Given the description of an element on the screen output the (x, y) to click on. 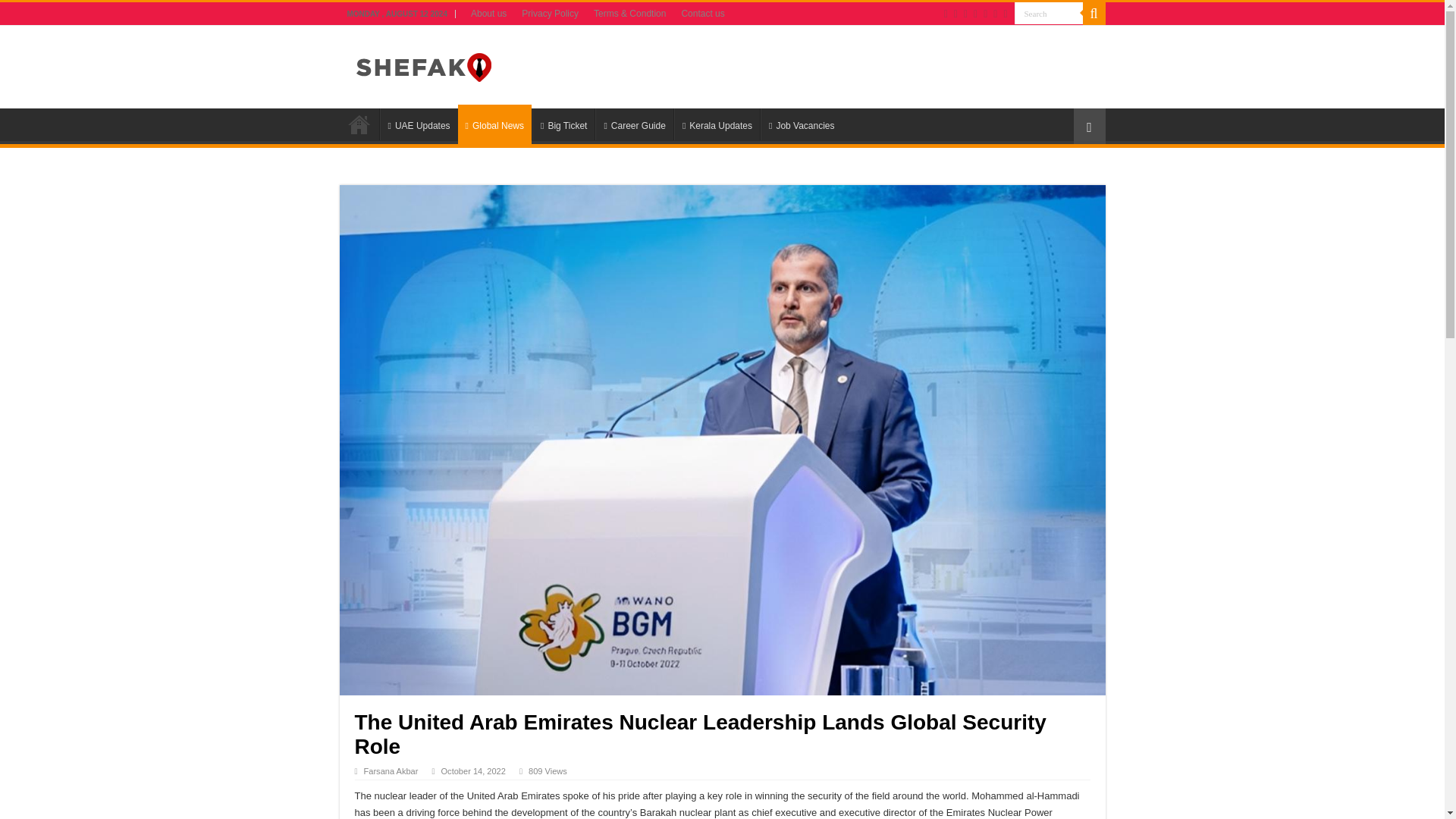
Career Guide (633, 124)
Search (1048, 13)
Global News (494, 124)
Kerala Updates (717, 124)
About us (488, 13)
Big Ticket (563, 124)
Home (358, 124)
Farsana Akbar (391, 770)
Search (1048, 13)
UAE Updates (417, 124)
